Given the description of an element on the screen output the (x, y) to click on. 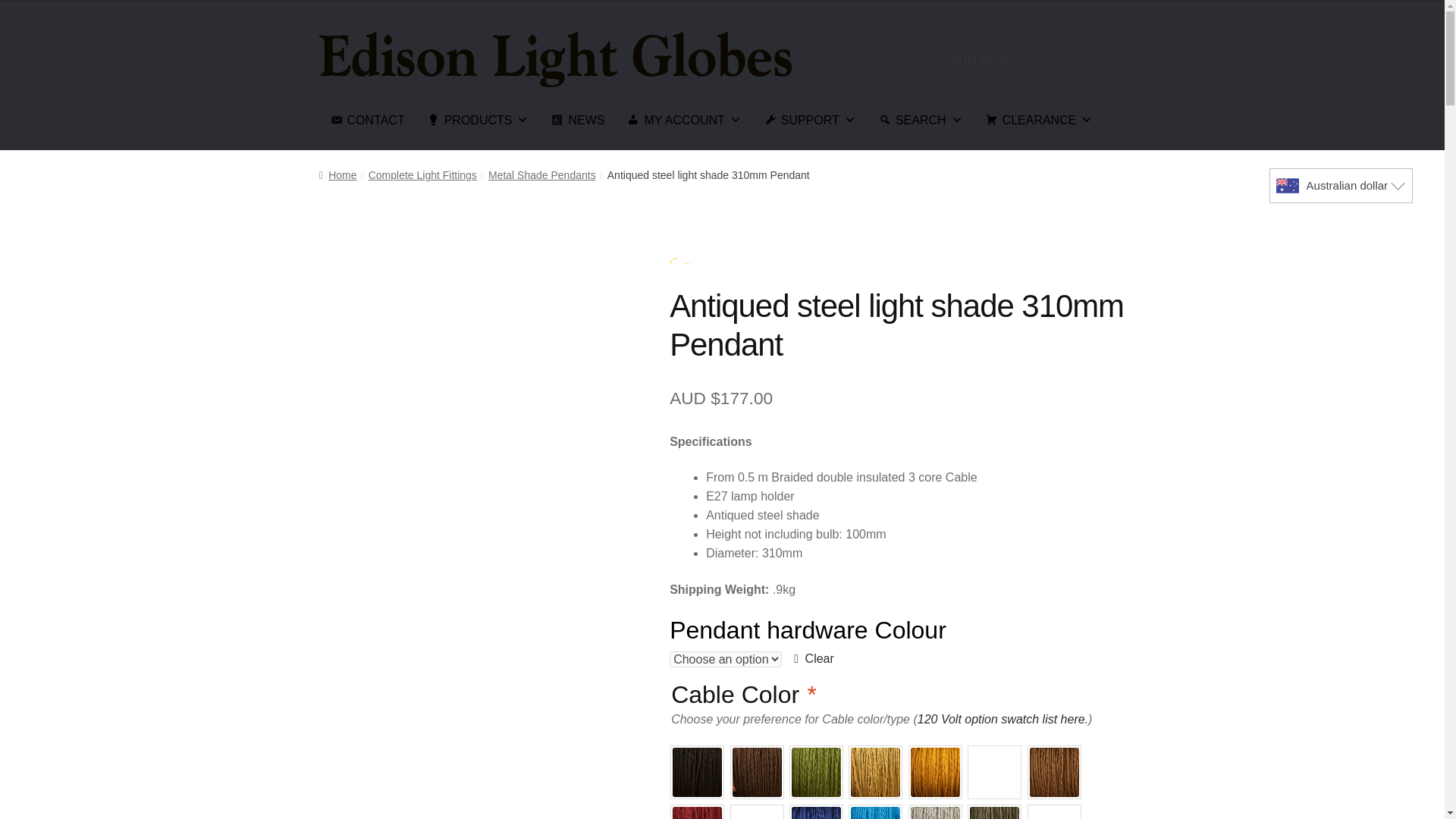
PRODUCTS (478, 119)
Celtic Gold braided  (934, 772)
View your shopping cart (1037, 60)
CONTACT (367, 119)
Brown braided  (756, 772)
Cypress Green braided  (816, 772)
Old Gold braided  (994, 772)
Burgundy braided  (697, 812)
Black braided  (697, 772)
Havanah Gold braided  (1053, 772)
